Given the description of an element on the screen output the (x, y) to click on. 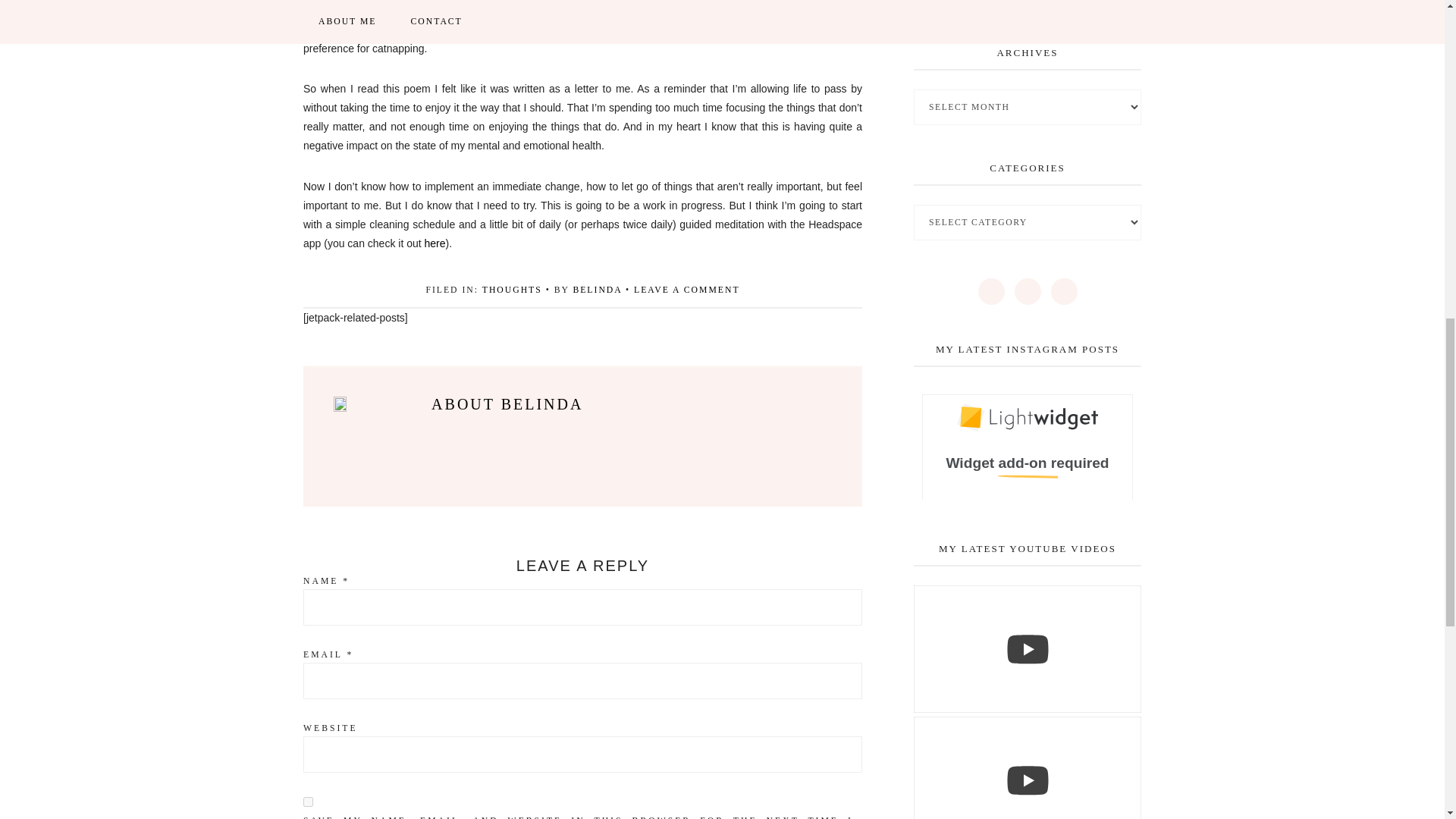
yes (307, 801)
BELINDA (596, 289)
LEAVE A COMMENT (686, 289)
THOUGHTS (511, 289)
here (435, 243)
